Given the description of an element on the screen output the (x, y) to click on. 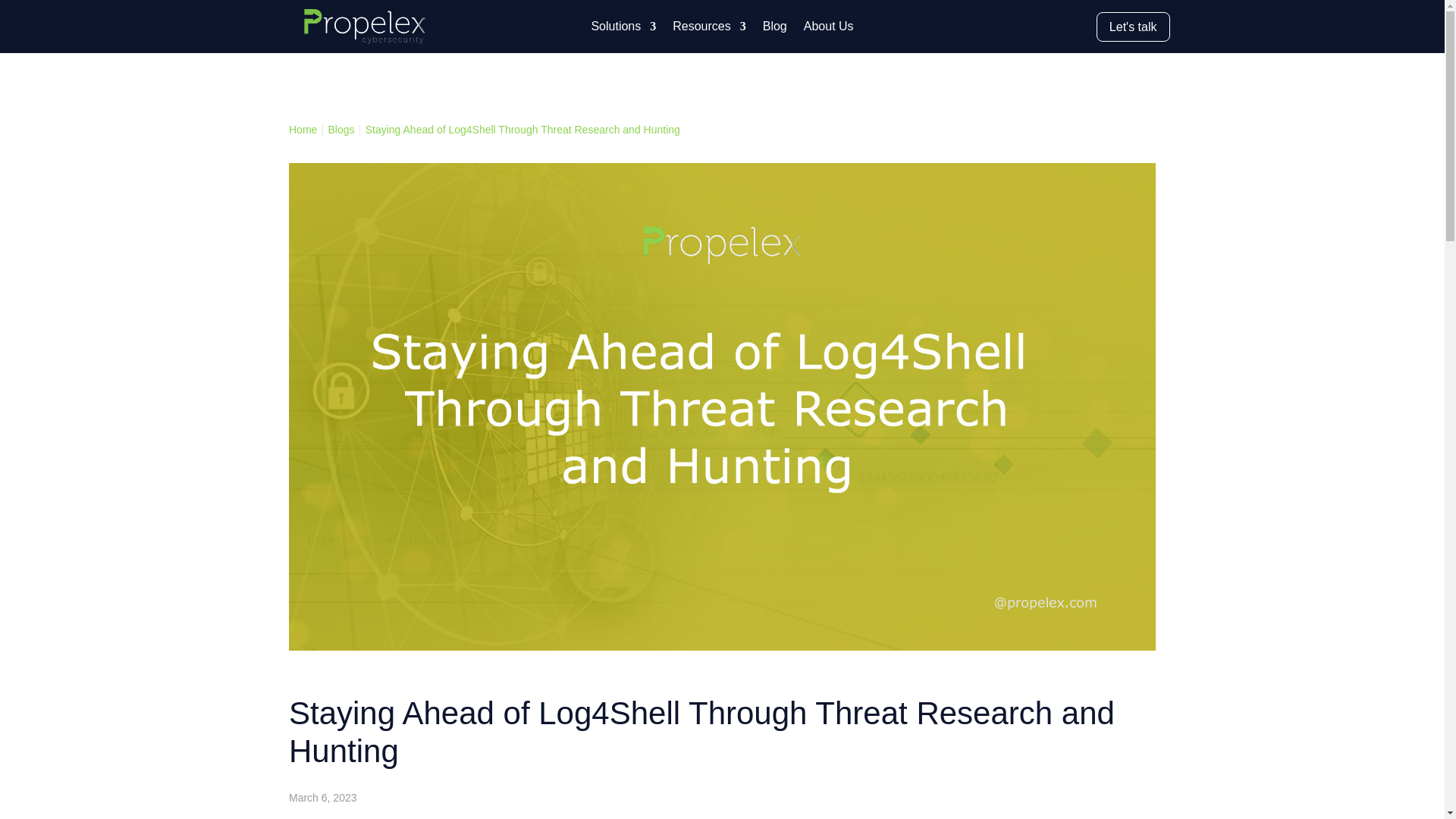
Solutions (623, 29)
Propelex (363, 26)
Blog (774, 29)
Resources (708, 29)
About Us (828, 29)
